Given the description of an element on the screen output the (x, y) to click on. 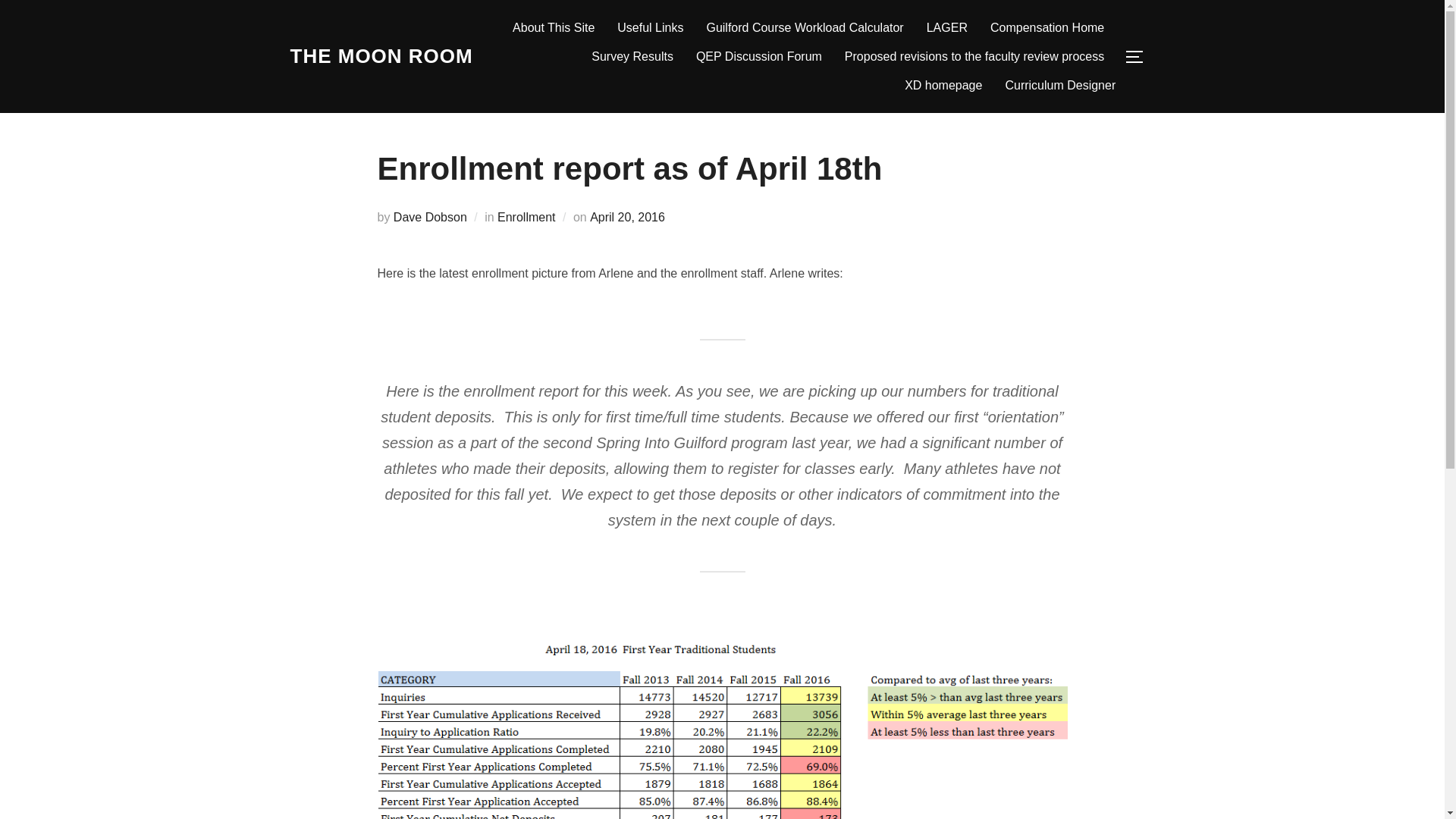
Compensation Home (1046, 27)
About This Site (553, 27)
LAGER (947, 27)
Dave Dobson (430, 216)
THE MOON ROOM (380, 56)
Guilford Course Workload Calculator (804, 27)
A site for the Guilford faculty community, active 2014-2021 (380, 56)
QEP Discussion Forum (758, 56)
Survey Results (631, 56)
XD homepage (942, 85)
Curriculum Designer (1059, 85)
Useful Links (649, 27)
Proposed revisions to the faculty review process (973, 56)
